Given the description of an element on the screen output the (x, y) to click on. 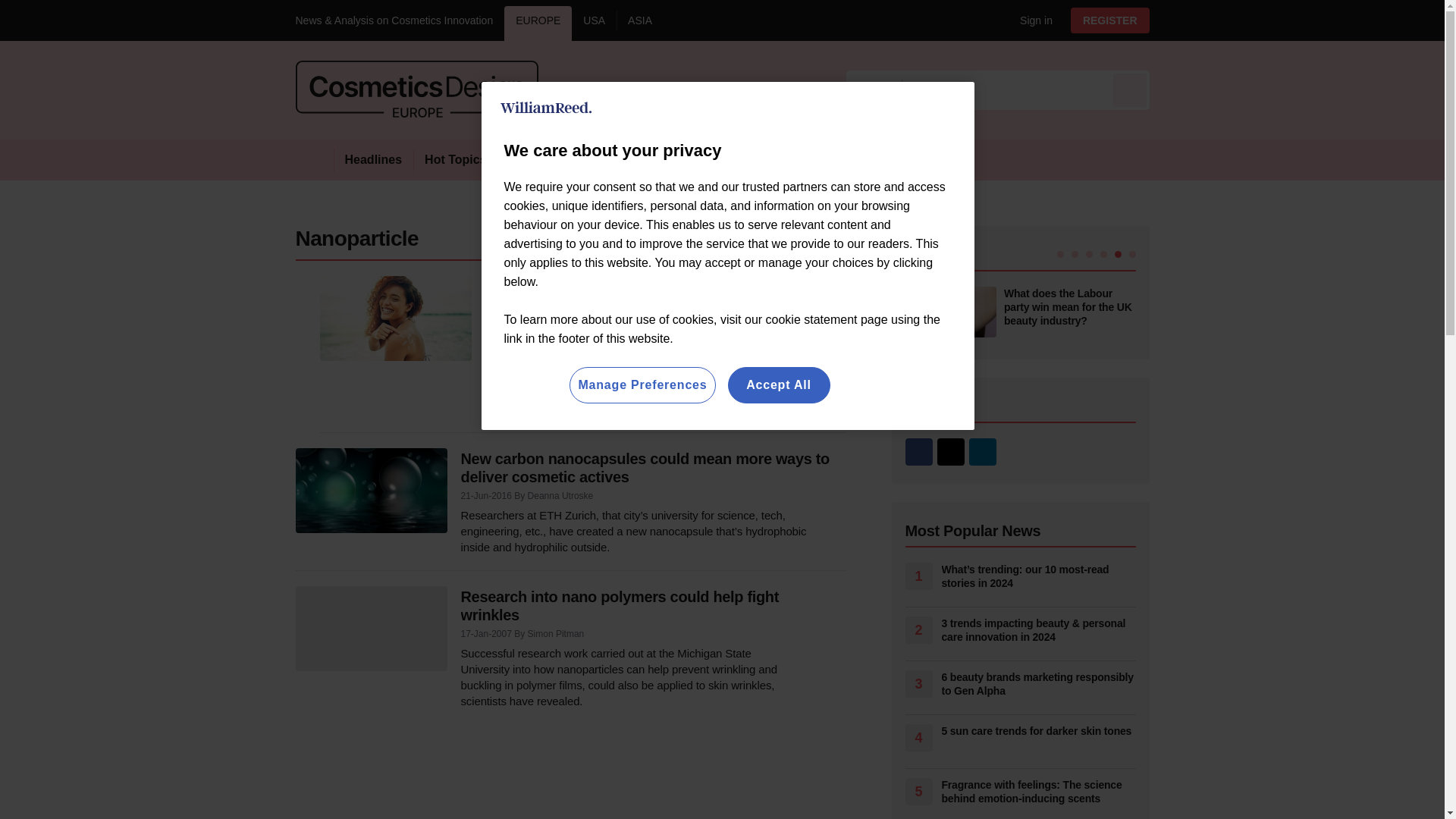
CosmeticsDesign Europe (416, 89)
ASIA (639, 22)
EUROPE (537, 22)
View full article (395, 318)
REGISTER (1110, 20)
William Reed (545, 107)
Send (1129, 90)
Send (1129, 89)
View full article (370, 490)
Sign in (1029, 20)
Home (313, 159)
Hot Topics (455, 159)
View full article (370, 628)
USA (593, 22)
Sign out (1032, 20)
